Given the description of an element on the screen output the (x, y) to click on. 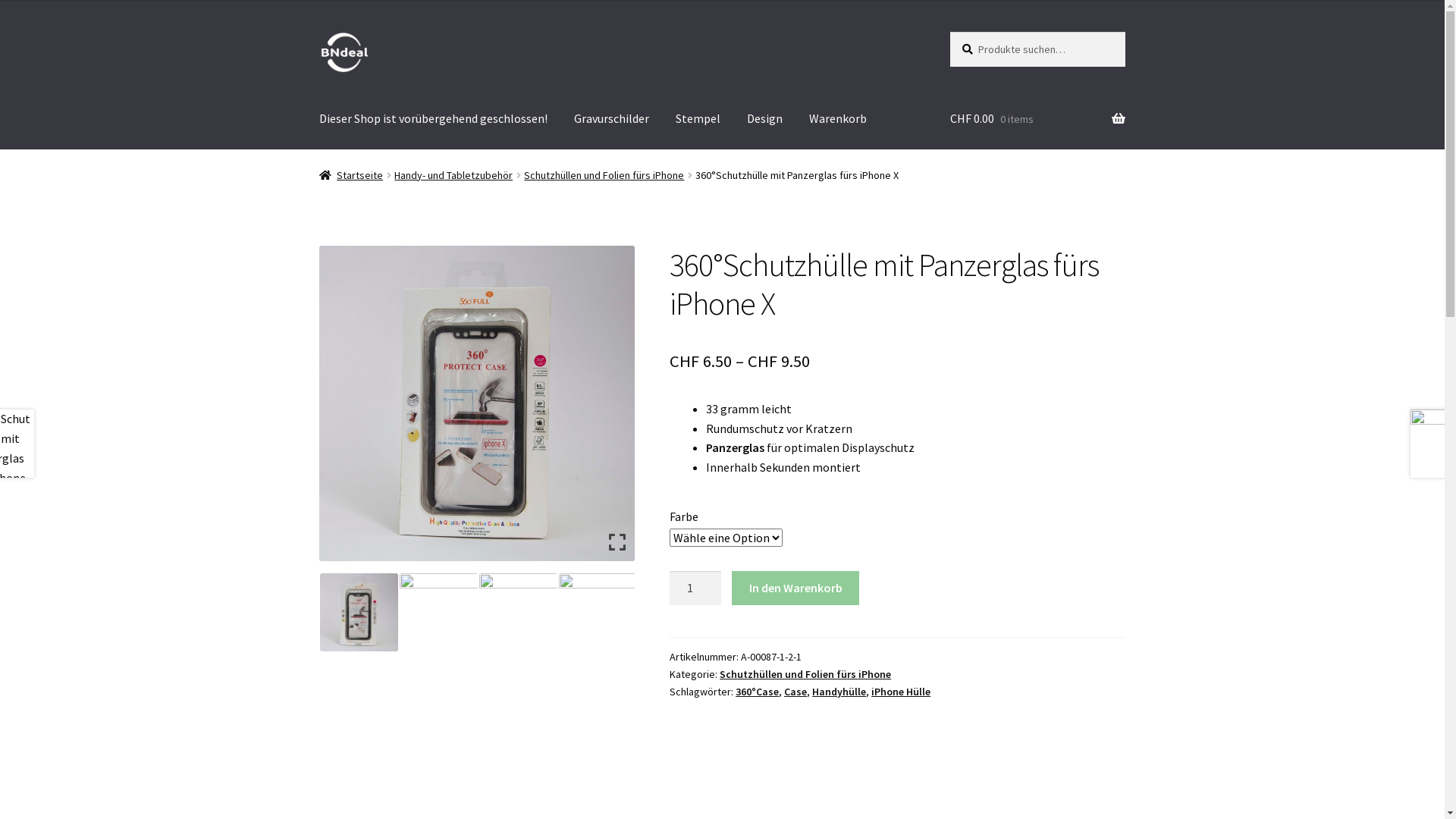
Skip to navigation Element type: text (318, 31)
Warenkorb Element type: text (837, 118)
Case Element type: text (795, 691)
Menge Element type: hover (695, 588)
Startseite Element type: text (351, 175)
Gravurschilder Element type: text (611, 118)
video Element type: hover (279, 612)
Design Element type: text (764, 118)
Stempel Element type: text (697, 118)
CHF 0.00 0 items Element type: text (1037, 118)
Suche Element type: text (949, 31)
In den Warenkorb Element type: text (795, 588)
